Given the description of an element on the screen output the (x, y) to click on. 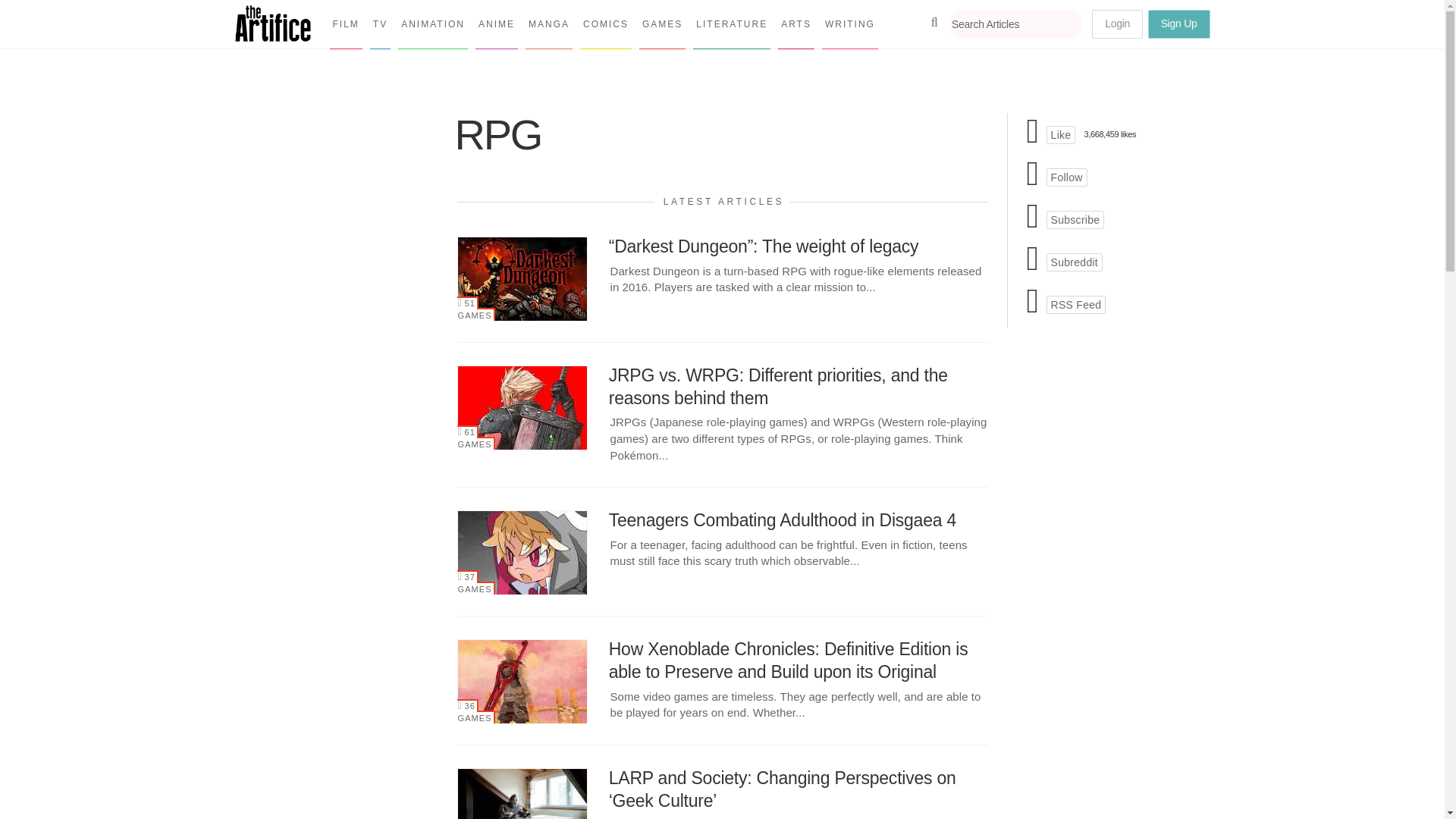
LITERATURE (731, 24)
51 (468, 302)
WRITING (849, 24)
Sign Up (1178, 23)
GAMES (476, 314)
MANGA (548, 24)
ANIMATION (432, 24)
GAMES (662, 24)
COMICS (605, 24)
Login (1117, 23)
